Given the description of an element on the screen output the (x, y) to click on. 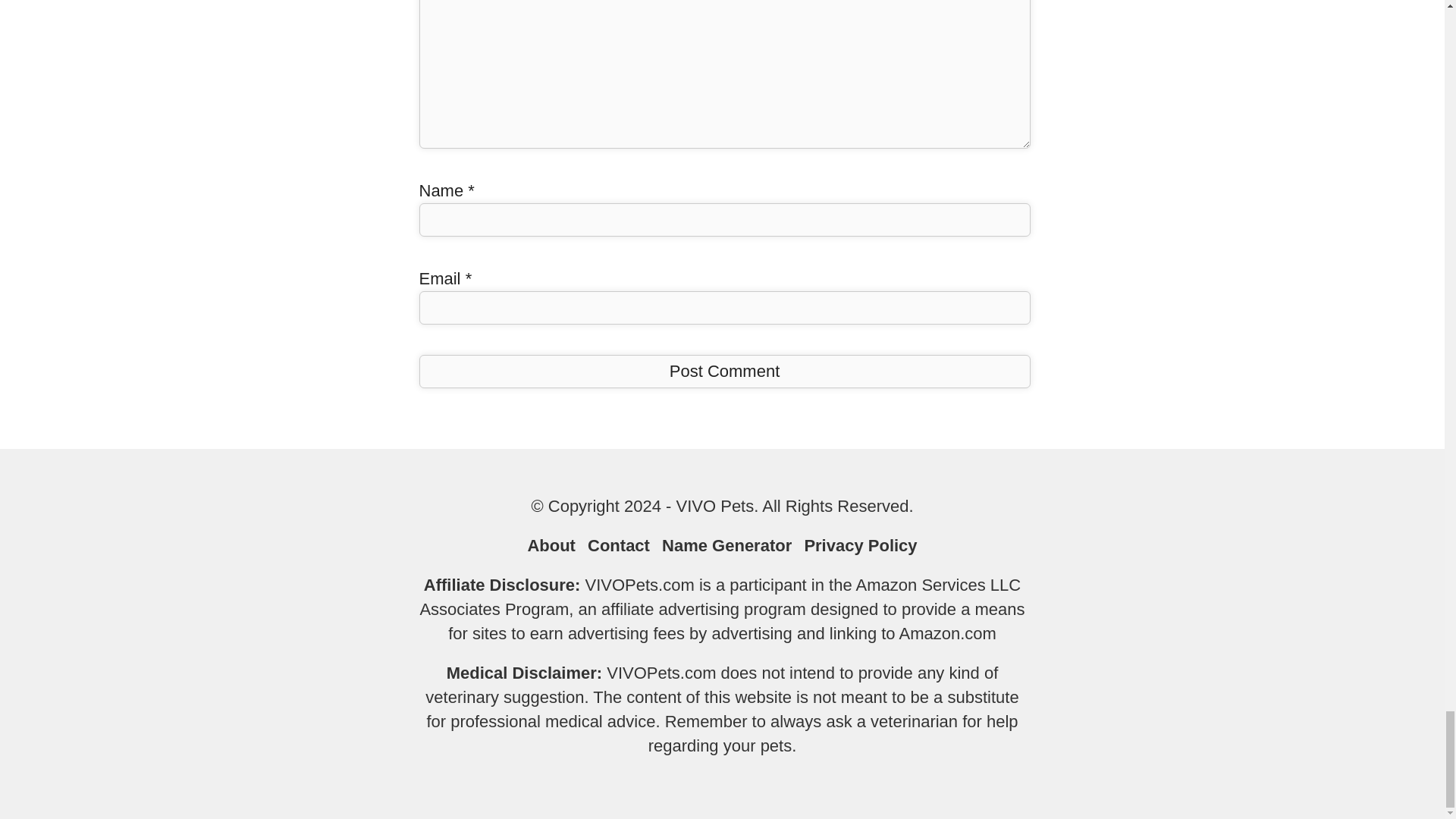
Post Comment (724, 371)
